Given the description of an element on the screen output the (x, y) to click on. 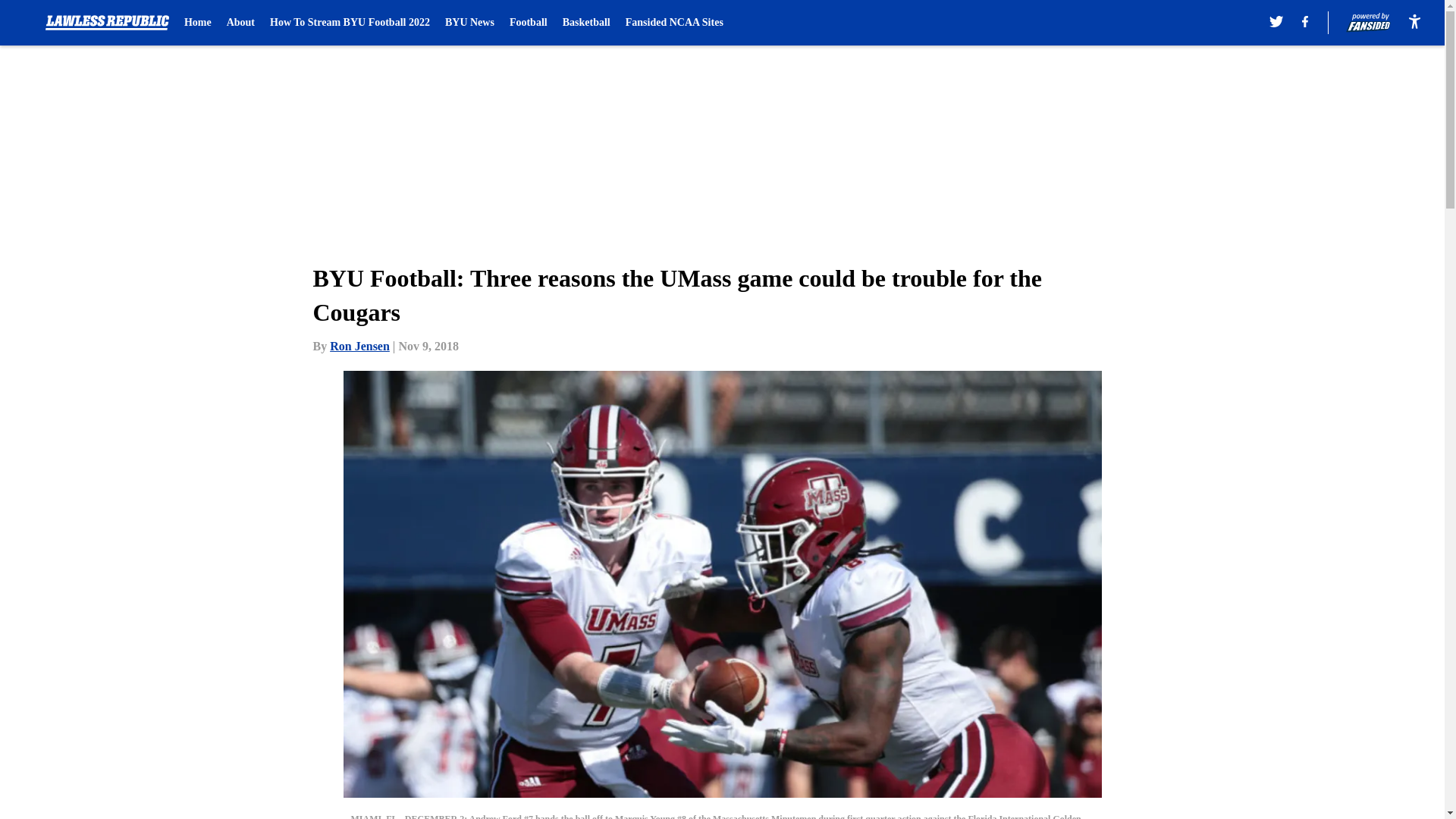
Ron Jensen (360, 345)
About (240, 22)
Football (528, 22)
Home (197, 22)
BYU News (470, 22)
Basketball (586, 22)
Fansided NCAA Sites (674, 22)
How To Stream BYU Football 2022 (349, 22)
